Given the description of an element on the screen output the (x, y) to click on. 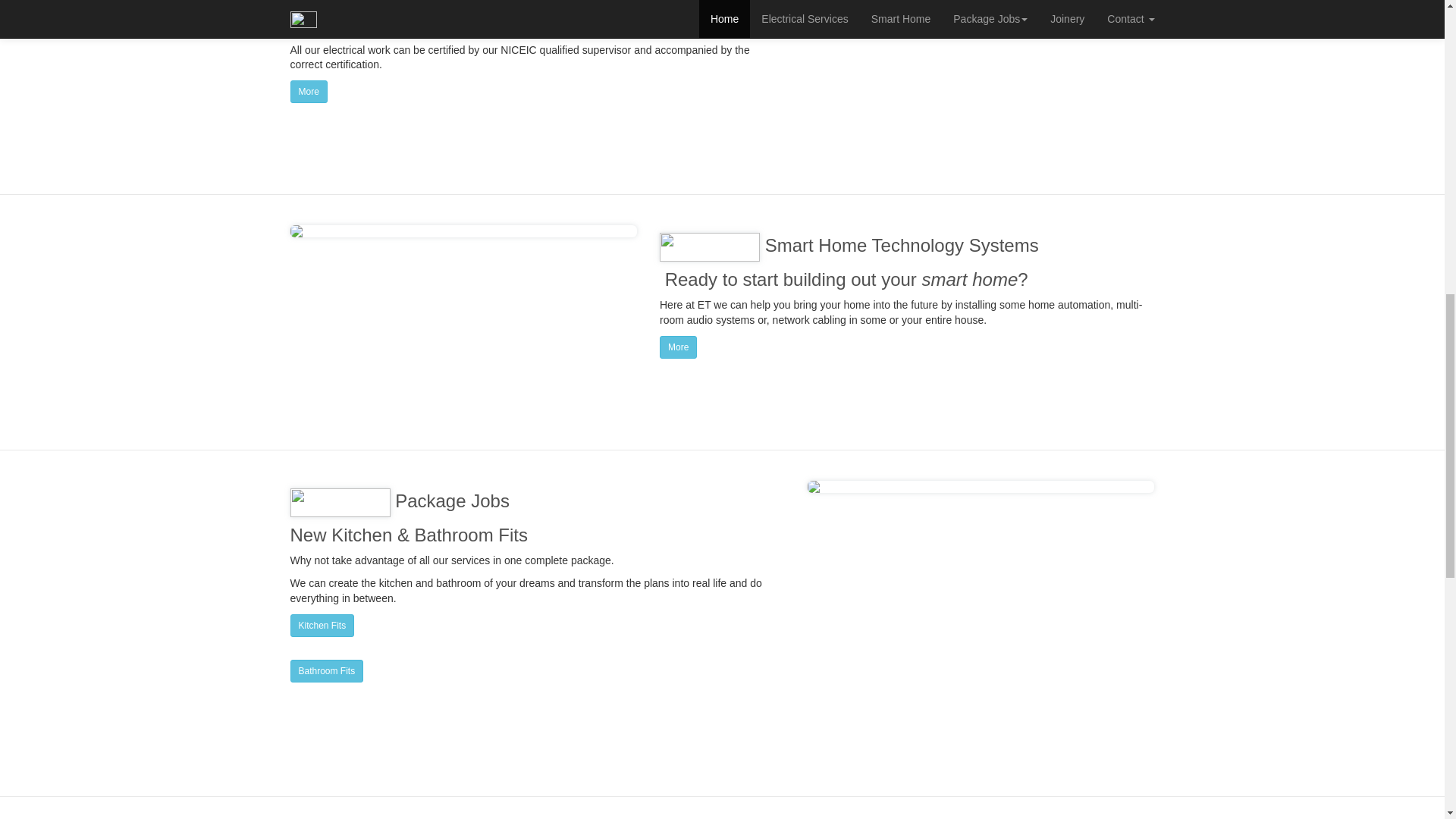
More (307, 91)
More (678, 346)
Bathroom Fits (325, 671)
Bathroom Fits (325, 670)
Kitchen Fits (321, 624)
Kitchen Fits (321, 625)
More (678, 346)
More (307, 91)
